Given the description of an element on the screen output the (x, y) to click on. 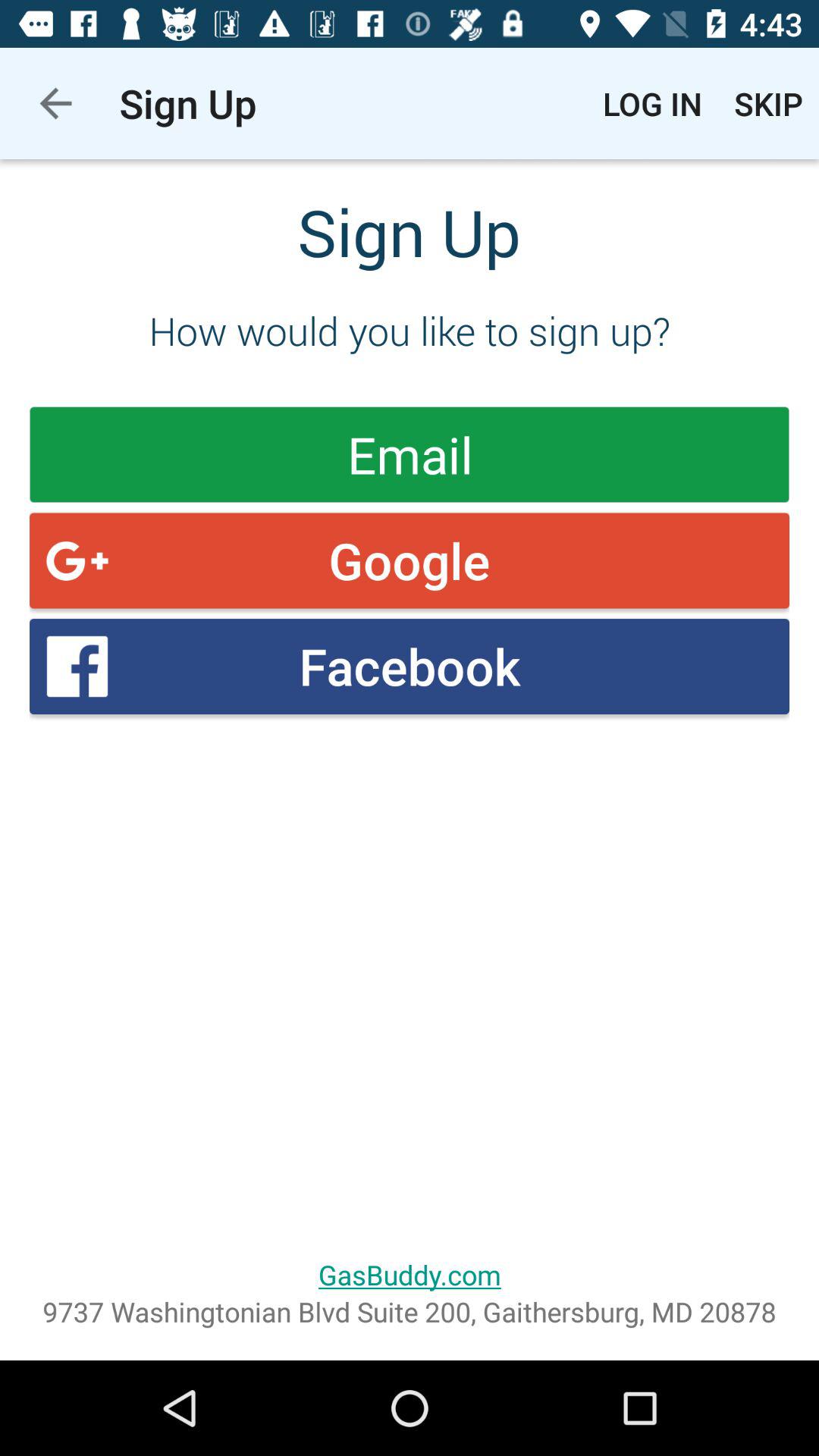
press log in item (652, 103)
